Given the description of an element on the screen output the (x, y) to click on. 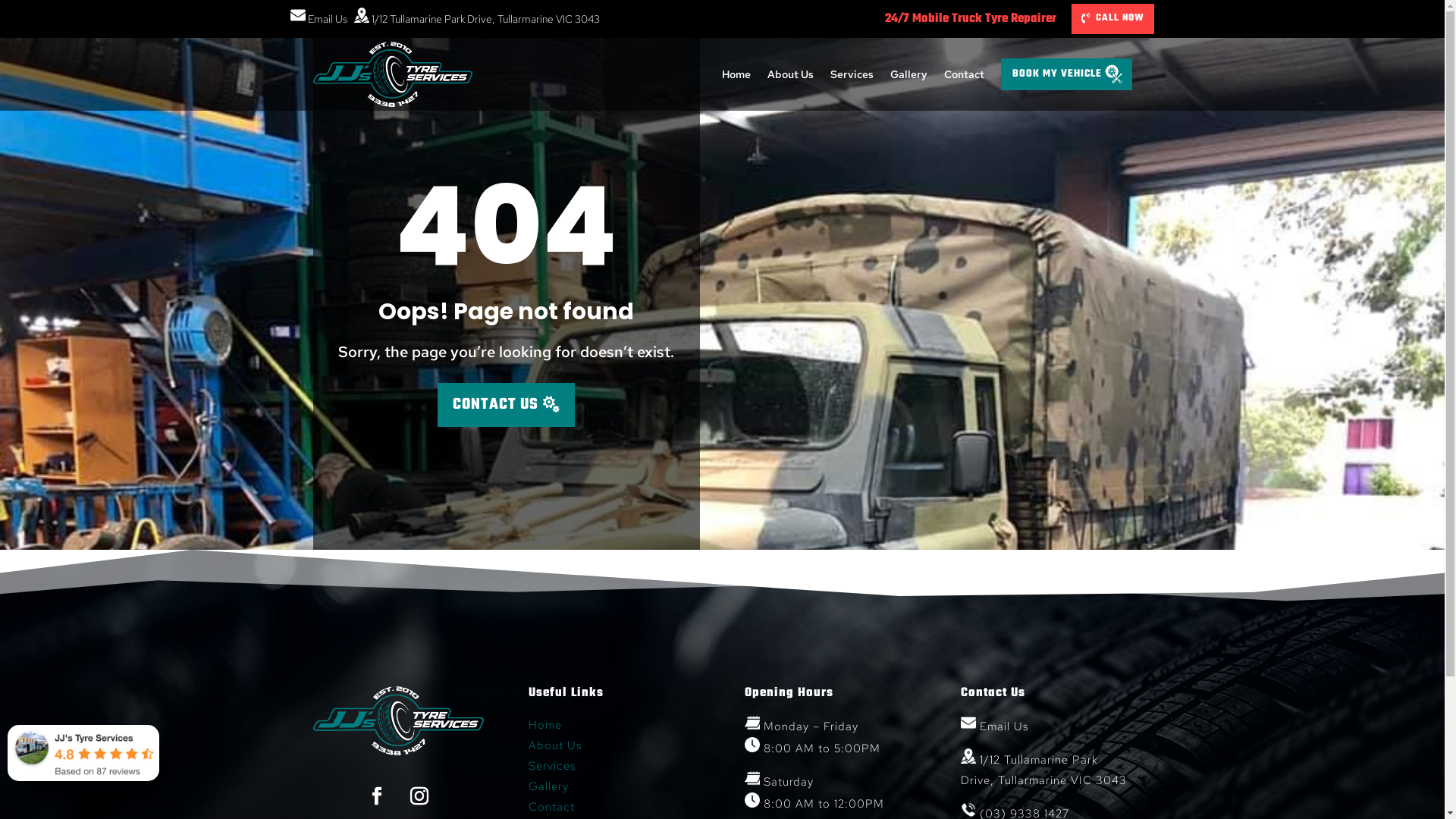
 1/12 Tullamarine Park Drive, Tullarmarine VIC 3043 Element type: text (1043, 769)
Gallery Element type: text (548, 785)
Follow on Facebook Element type: hover (376, 796)
 Email Us Element type: text (994, 726)
jjs-tyre-services-google-reviews Element type: hover (83, 752)
Gallery Element type: text (908, 73)
Services Element type: text (552, 765)
About Us Element type: text (555, 745)
Home Element type: text (544, 724)
BOOK MY VEHICLE Element type: text (1066, 74)
CONTACT US Element type: text (505, 404)
CALL NOW Element type: text (1112, 18)
Contact Element type: text (551, 806)
Follow on Instagram Element type: hover (419, 796)
jjs-tyre-services-logo Element type: hover (397, 721)
 Email Us Element type: text (317, 18)
Services Element type: text (850, 73)
About Us Element type: text (790, 73)
Home Element type: text (735, 73)
 1/12 Tullamarine Park Drive, Tullarmarine VIC 3043 Element type: text (476, 18)
Contact Element type: text (963, 73)
